Given the description of an element on the screen output the (x, y) to click on. 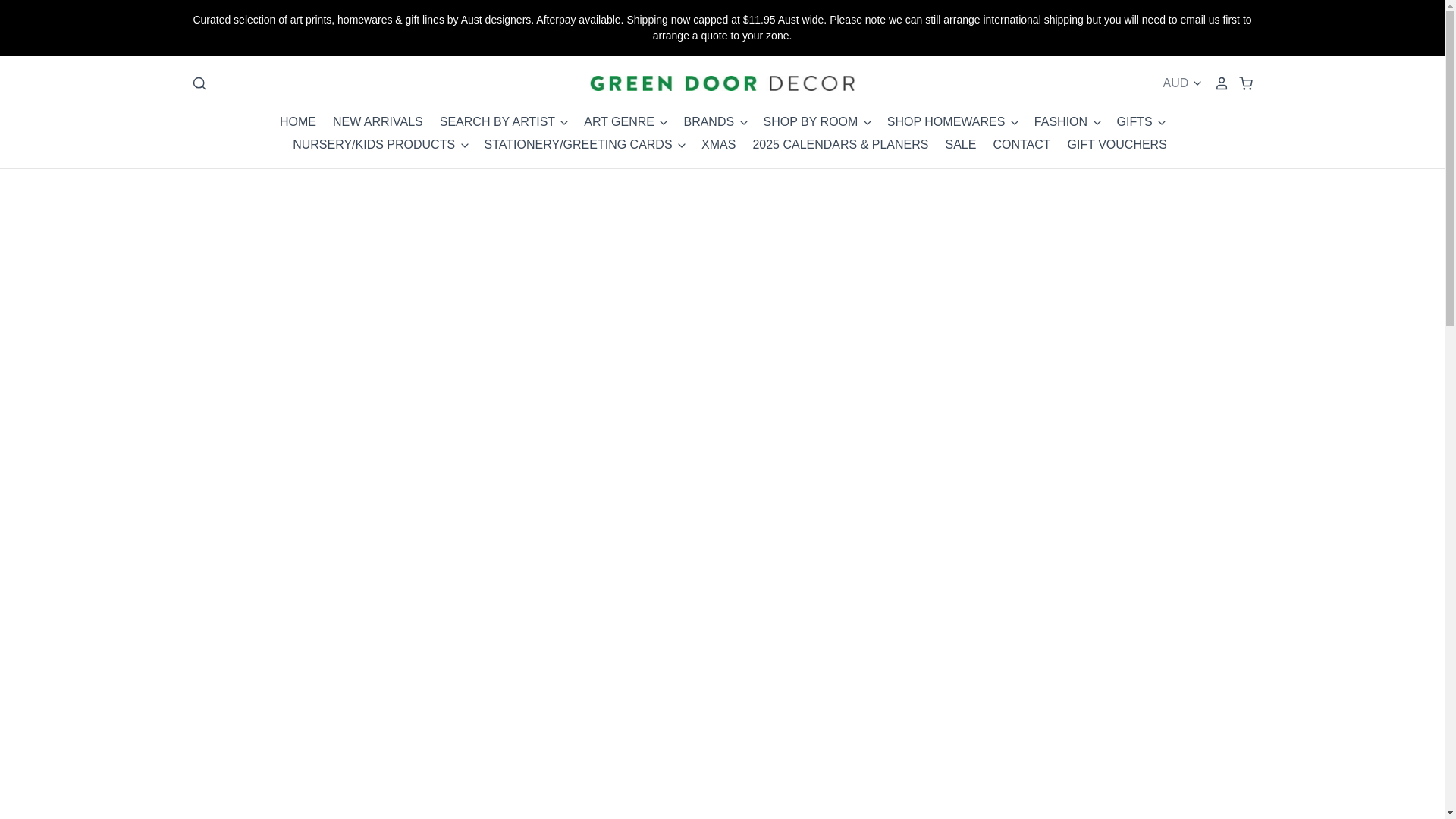
Chevron down Icon (1096, 122)
Chevron down Icon (1161, 122)
Chevron down Icon (1014, 122)
Chevron down Icon (681, 145)
Chevron down Icon (464, 145)
Chevron down Icon (743, 122)
Chevron down Icon (663, 122)
Chevron down Icon (867, 122)
Chevron down Icon (563, 122)
